Given the description of an element on the screen output the (x, y) to click on. 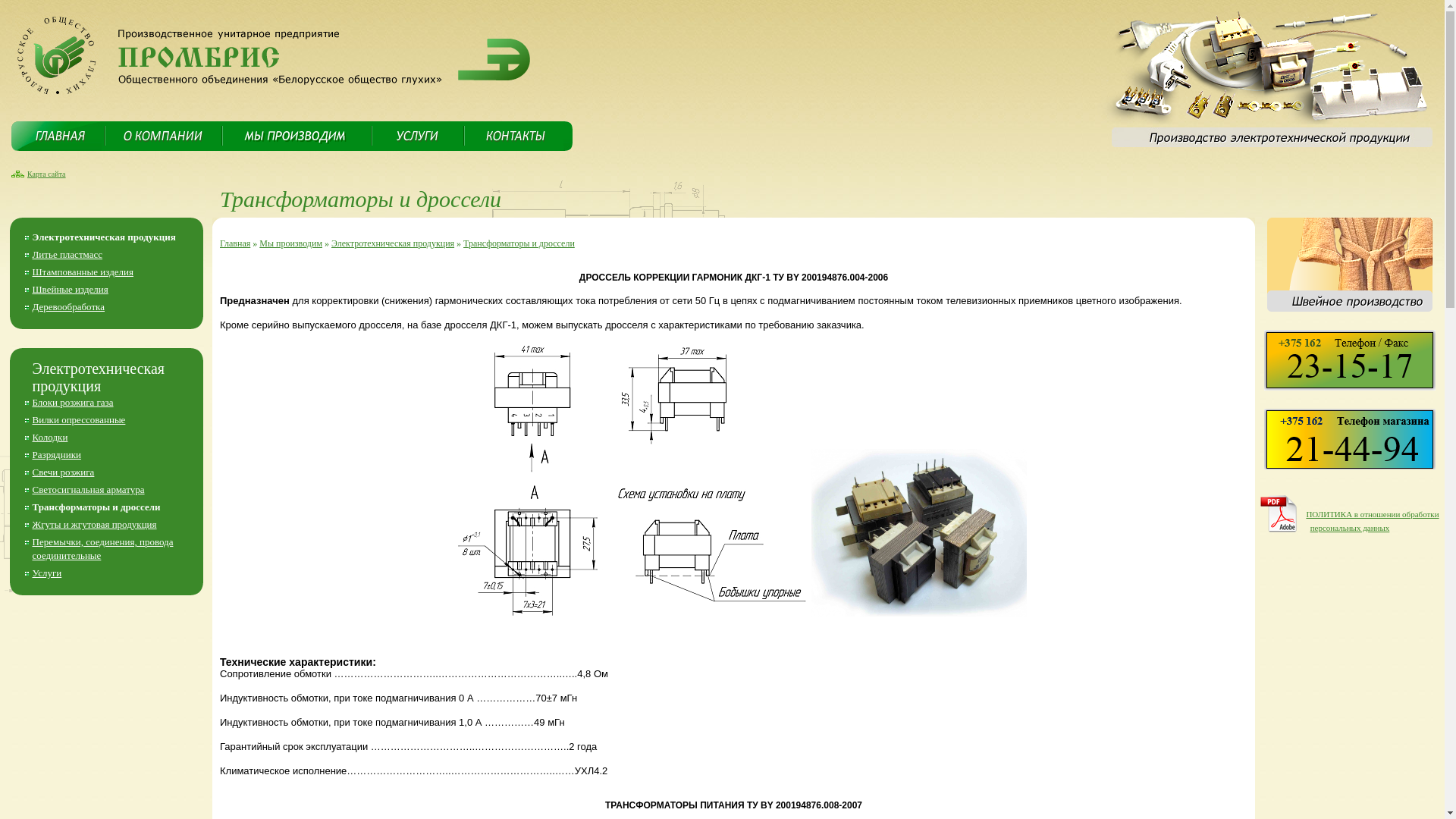
transformatori2 .jpg Element type: hover (918, 532)
